Given the description of an element on the screen output the (x, y) to click on. 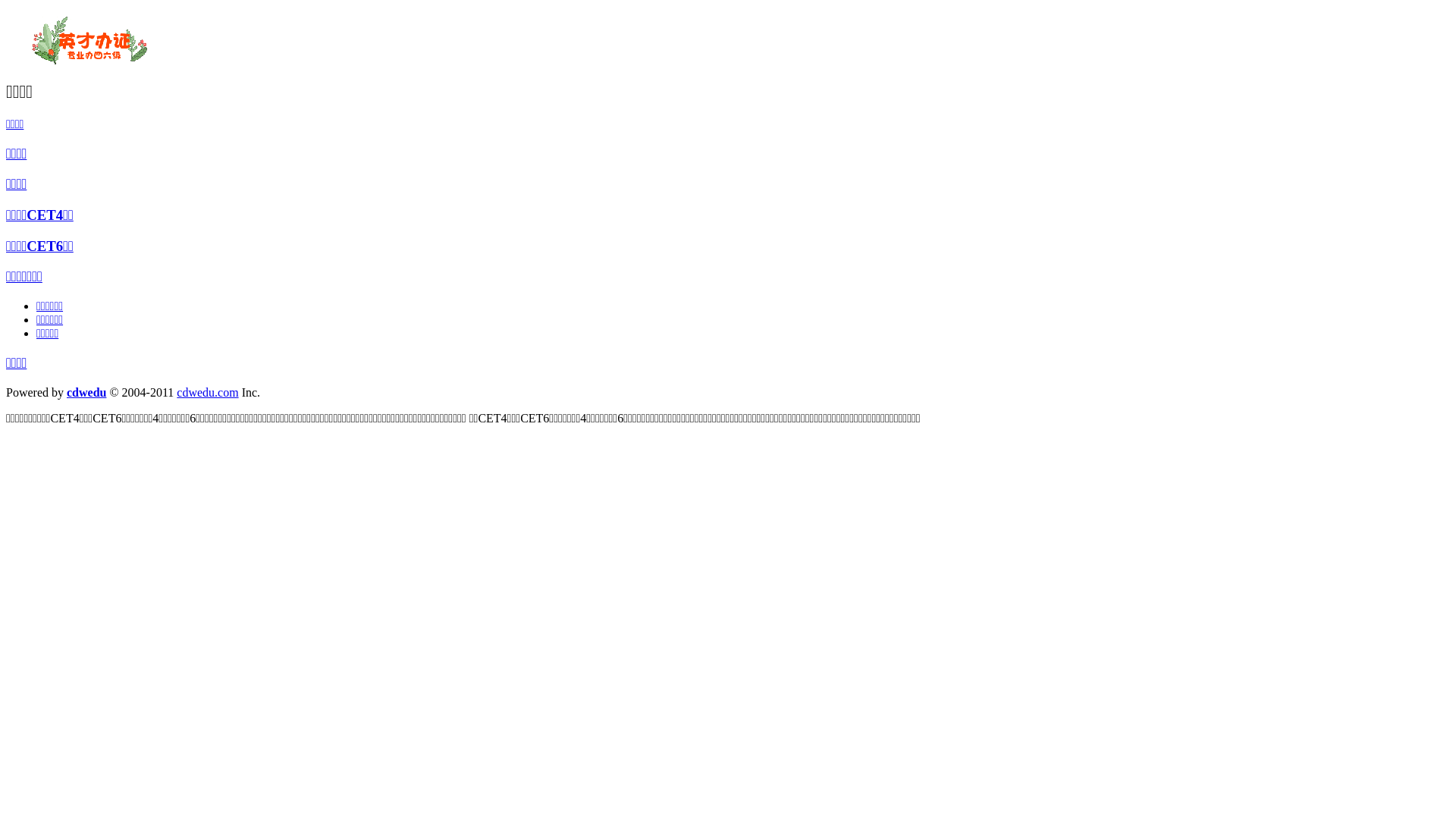
cdwedu.com Element type: text (207, 391)
cdwedu Element type: text (86, 391)
